Given the description of an element on the screen output the (x, y) to click on. 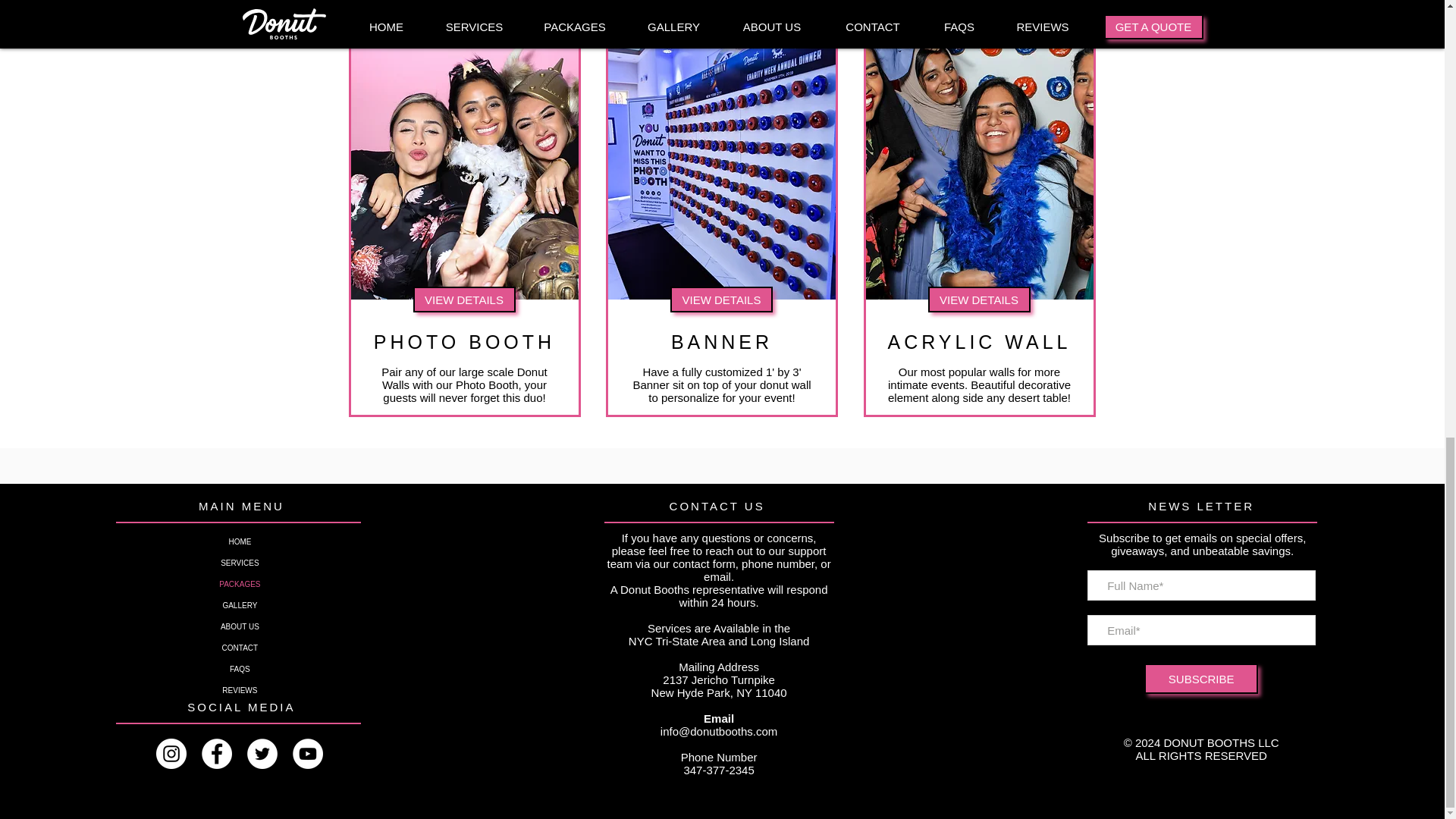
REVIEWS (239, 690)
HOME (239, 541)
VIEW DETAILS (463, 299)
FAQS (239, 669)
CONTACT (239, 648)
ABOUT US (239, 627)
GALLERY (239, 605)
SERVICES (239, 563)
SUBSCRIBE (1200, 678)
